Given the description of an element on the screen output the (x, y) to click on. 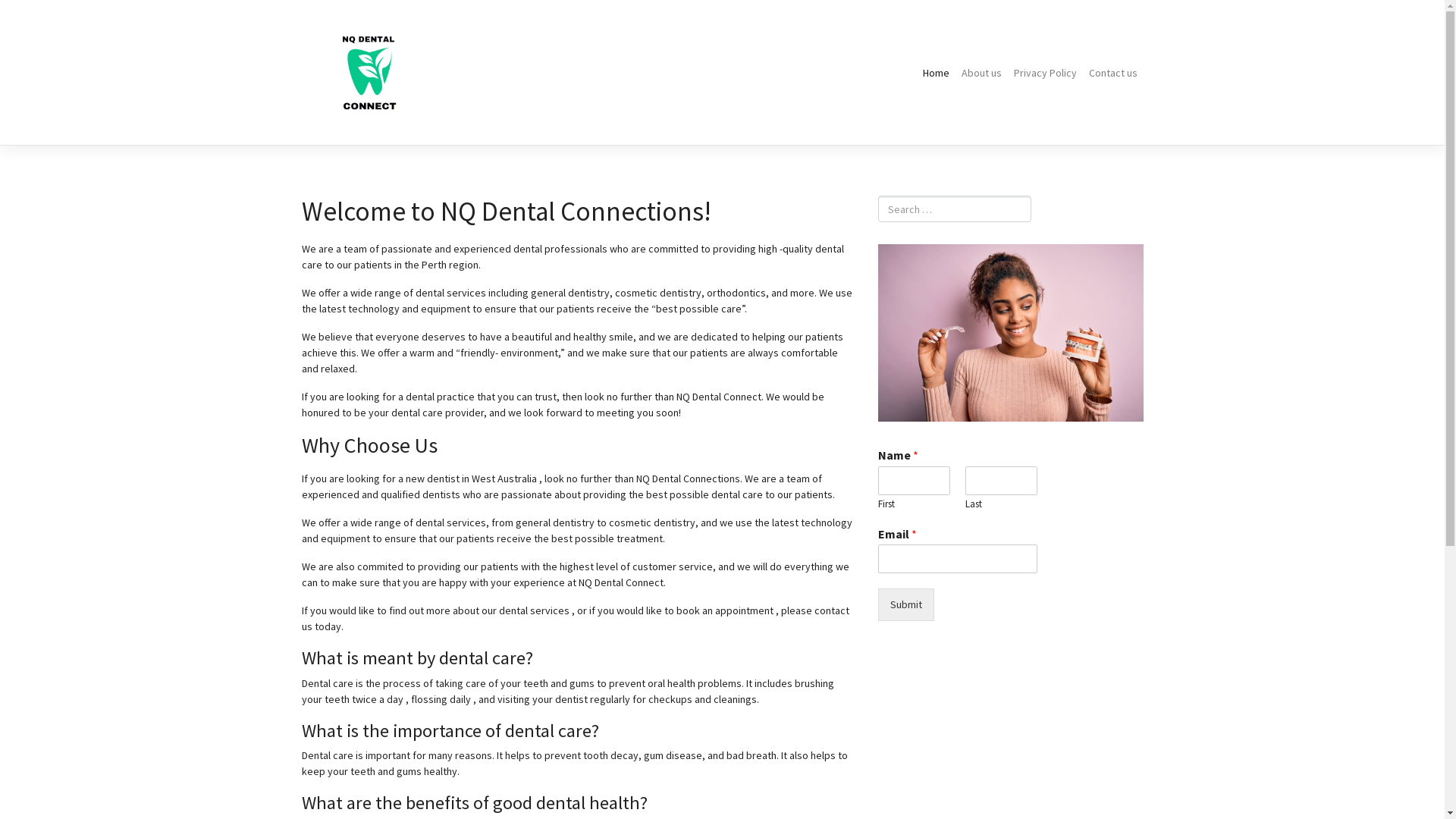
Contact us Element type: text (1112, 73)
Search for: Element type: hover (954, 208)
Submit Element type: text (906, 604)
Home Element type: text (935, 73)
Search Element type: text (26, 12)
Privacy Policy Element type: text (1044, 73)
About us Element type: text (981, 73)
